Given the description of an element on the screen output the (x, y) to click on. 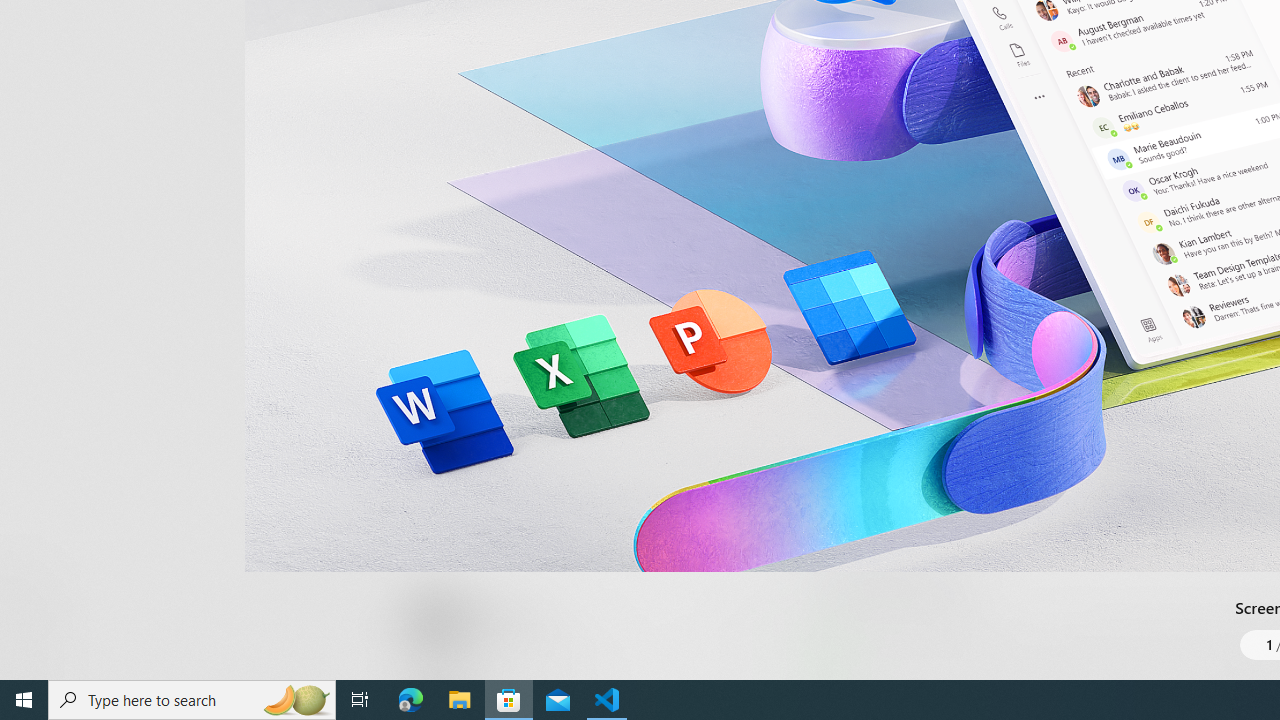
Show all ratings and reviews (838, 207)
Show more (854, 674)
Library (35, 640)
What's New (35, 578)
Show less (850, 518)
Share (746, 632)
Age rating: EVERYONE. Click for more information. (506, 619)
Productivity (579, 30)
